Given the description of an element on the screen output the (x, y) to click on. 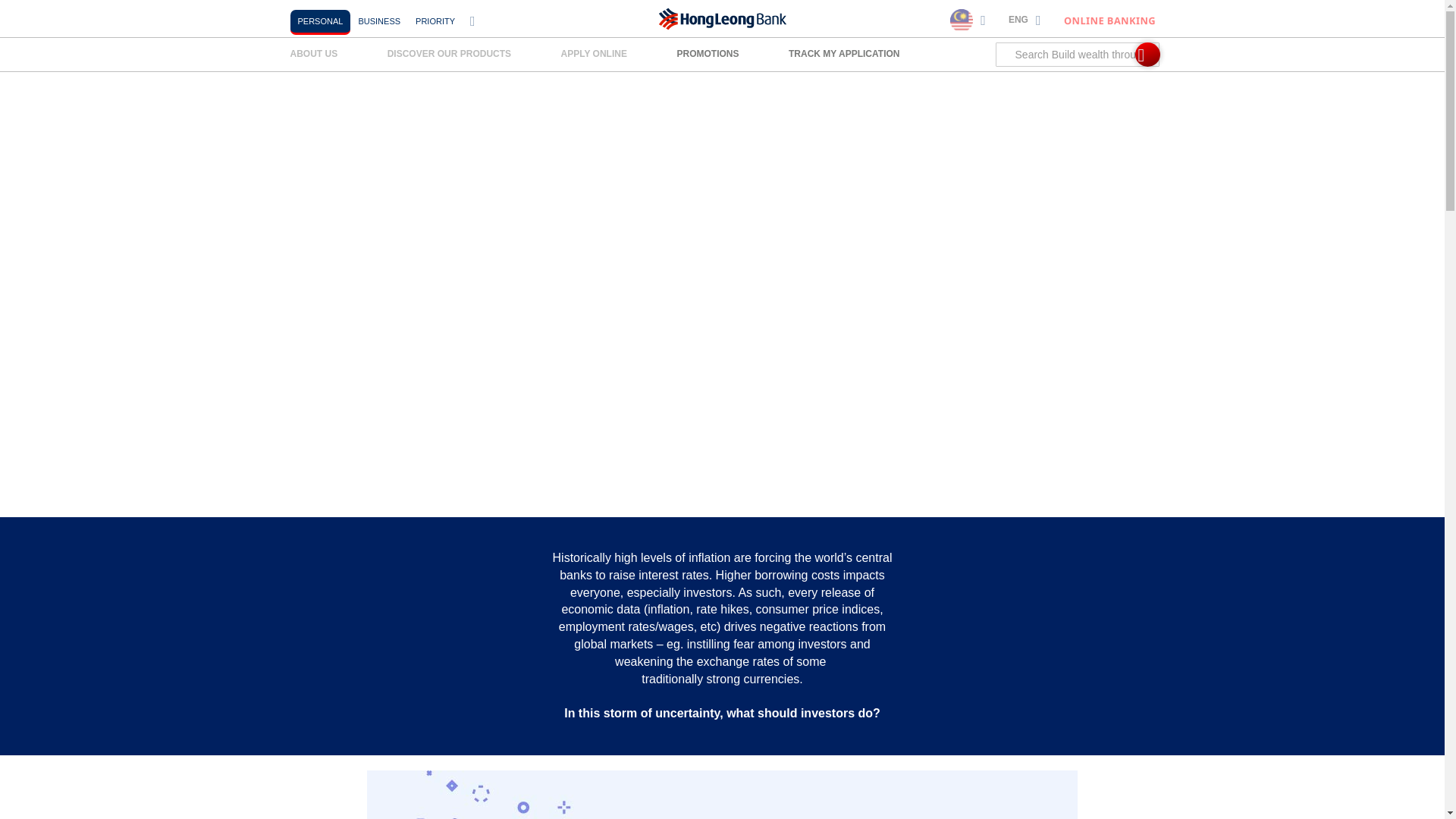
BUSINESS (379, 20)
PERSONAL (319, 20)
Knowledge (53, 63)
DISCOVER OUR PRODUCTS (448, 53)
PRIORITY (434, 20)
ENG (1024, 20)
ABOUT US (319, 53)
